Given the description of an element on the screen output the (x, y) to click on. 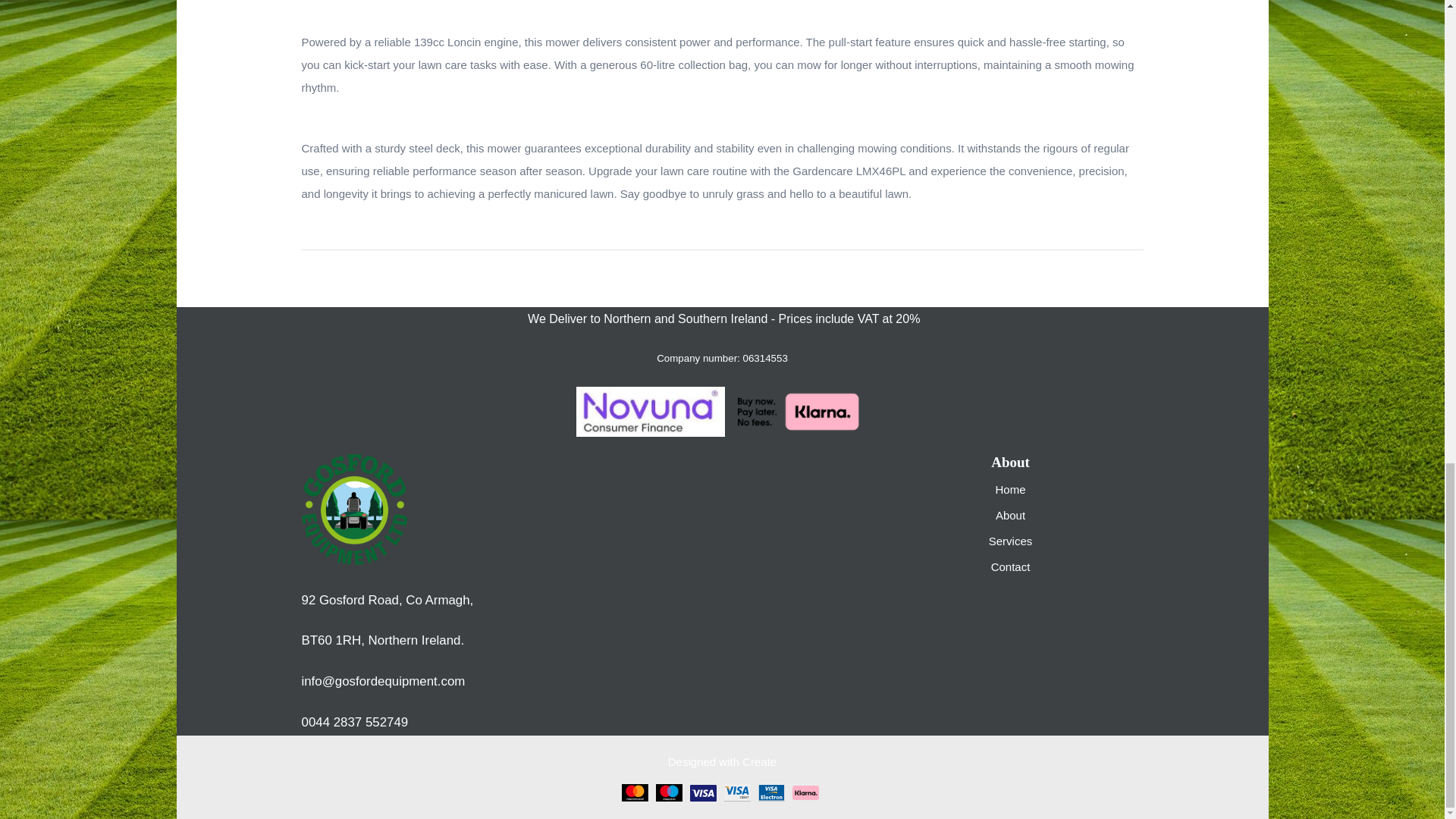
Create (759, 761)
Home (1009, 489)
Contact (1010, 566)
Services (1010, 540)
About (1010, 514)
klarna-banner-1024x391 (796, 411)
